Given the description of an element on the screen output the (x, y) to click on. 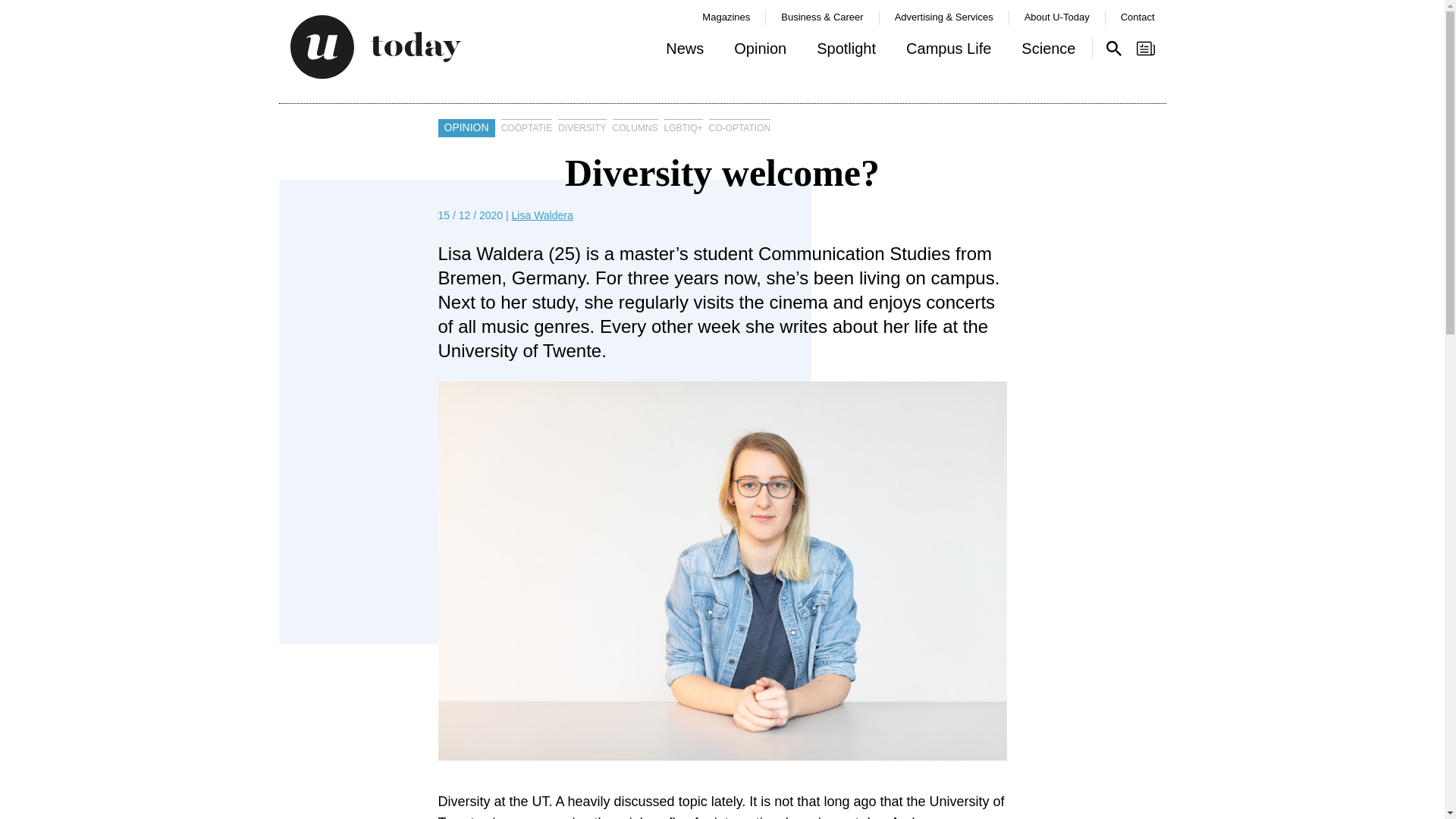
Campus Life (948, 51)
Magazines (725, 16)
Opinion (760, 51)
Lisa Waldera (542, 215)
Search (1112, 48)
Spotlight (846, 51)
COLUMNS (635, 127)
About U-Today (1057, 16)
2020-12-15 14:03 (470, 215)
DIVERSITY (581, 127)
Science (1048, 51)
OPINION (466, 127)
CO-OPTATION (740, 127)
Contact (1137, 16)
News (684, 51)
